Given the description of an element on the screen output the (x, y) to click on. 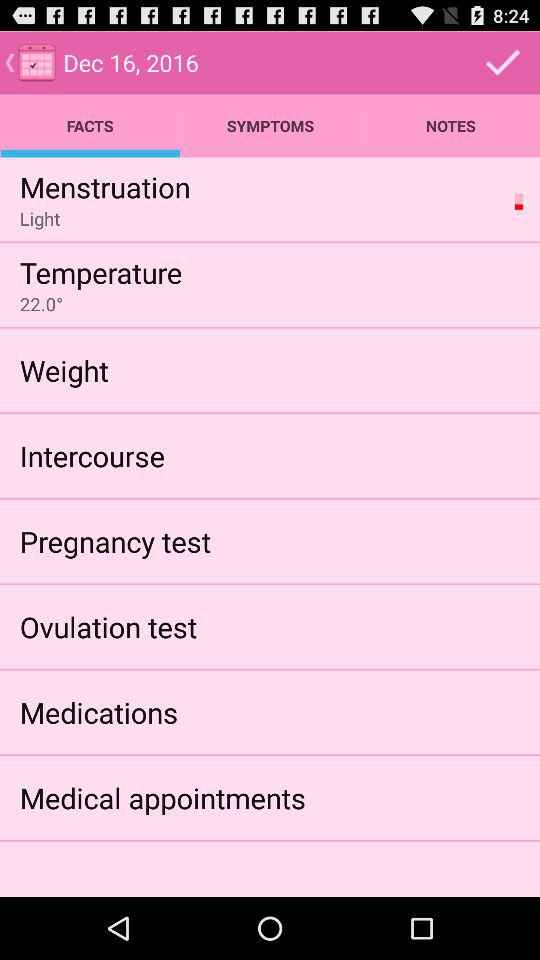
launch ovulation test app (108, 626)
